Given the description of an element on the screen output the (x, y) to click on. 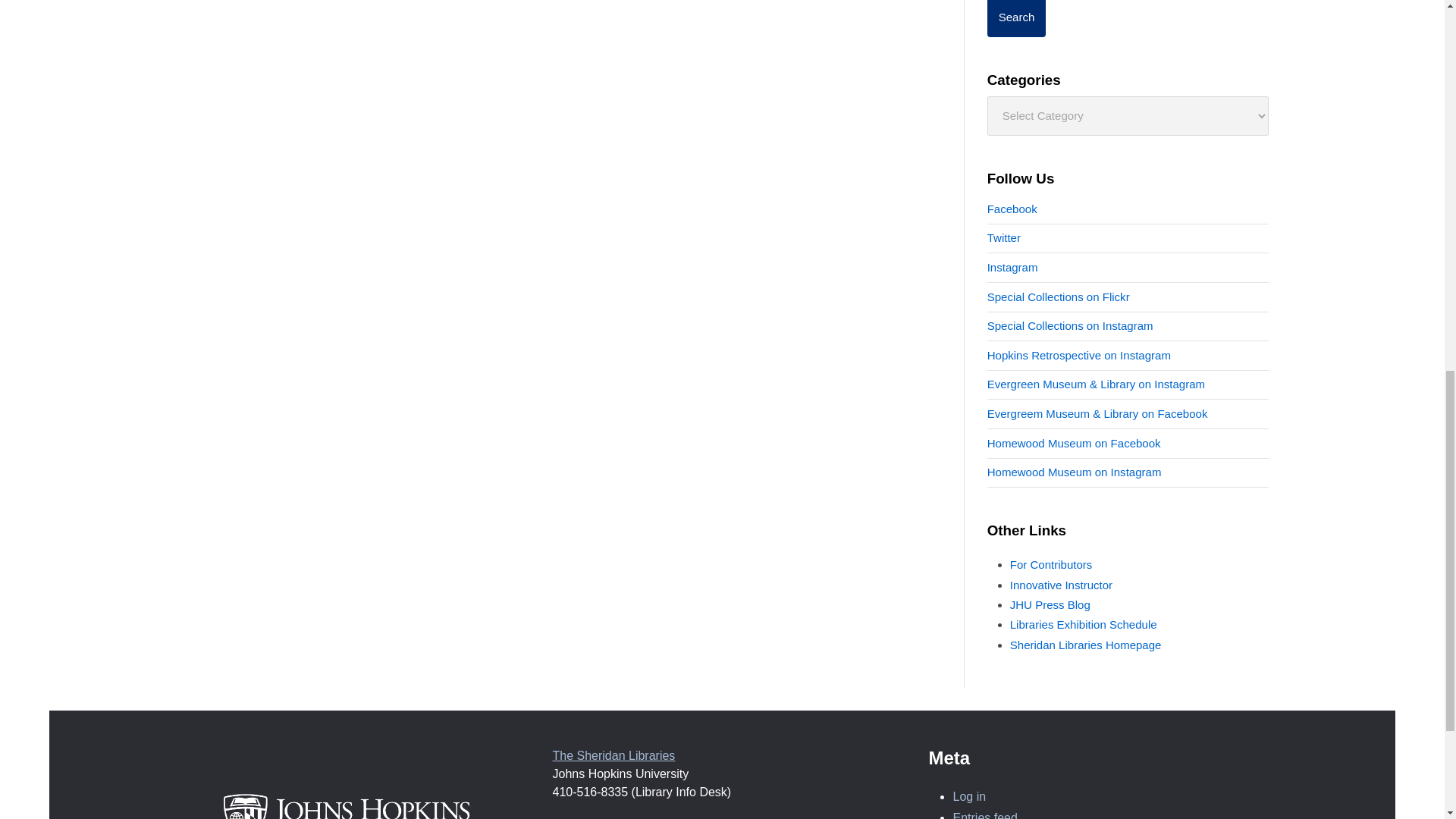
Sheridan Libraries Homepage (1085, 644)
Facebook (1011, 208)
Search (1016, 18)
Homewood Museum on Facebook (1073, 442)
Special Collections on Flickr (1058, 296)
Twitter (1003, 237)
For Contributors (1051, 563)
JHU Press Blog (1050, 604)
Search (1016, 18)
Libraries Exhibition Schedule (1083, 624)
Innovative Instructor (1061, 584)
Search (1016, 18)
Hopkins Retrospective on Instagram (1078, 354)
Homewood Museum on Instagram (1074, 472)
Instagram (1012, 267)
